Given the description of an element on the screen output the (x, y) to click on. 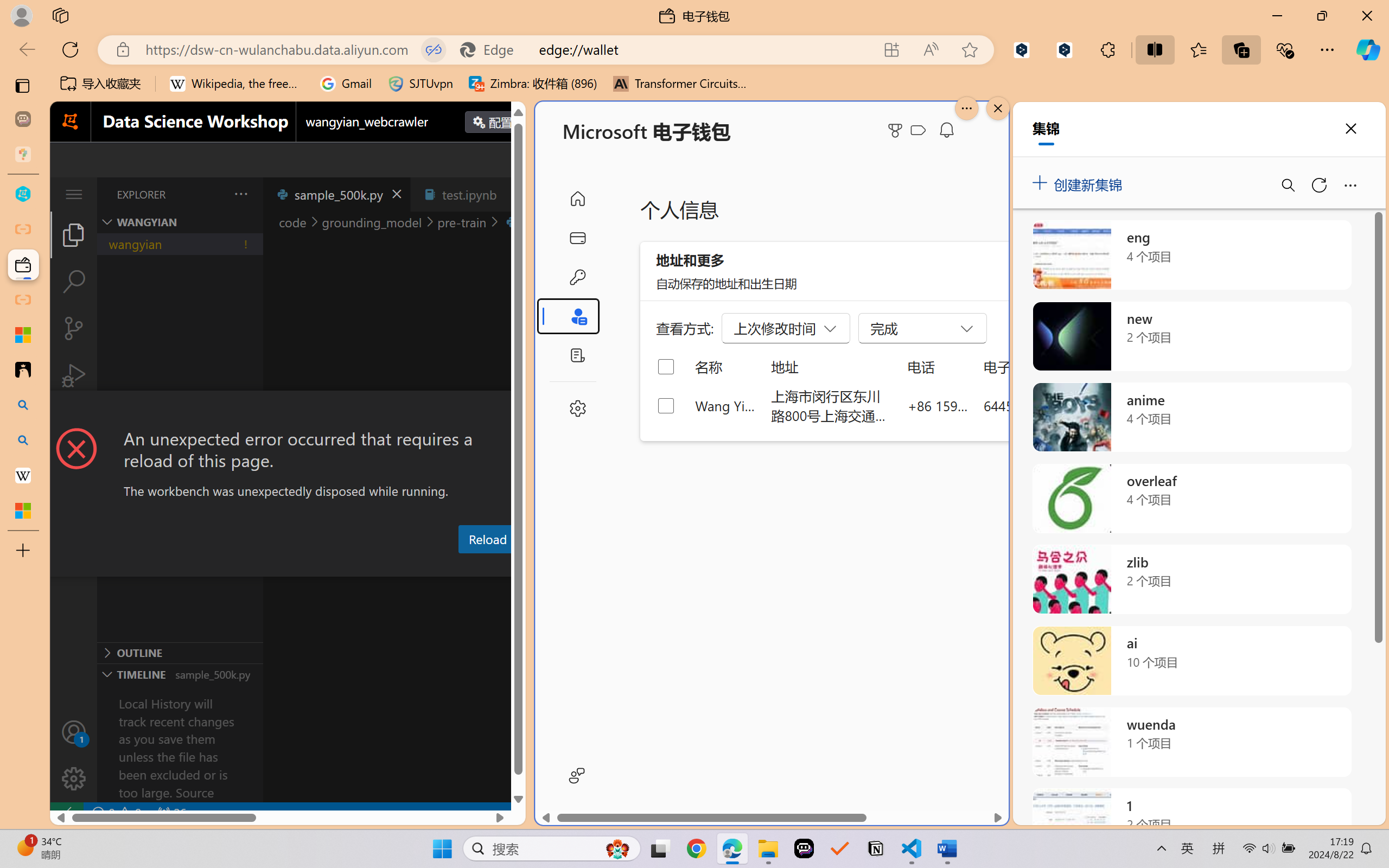
Problems (Ctrl+Shift+M) (308, 565)
Class: ___1lmltc5 f1agt3bx f12qytpq (917, 130)
Earth - Wikipedia (22, 475)
Source Control (Ctrl+Shift+G) (73, 328)
Class: actions-container (287, 410)
Timeline Section (179, 673)
Manage (73, 755)
